Given the description of an element on the screen output the (x, y) to click on. 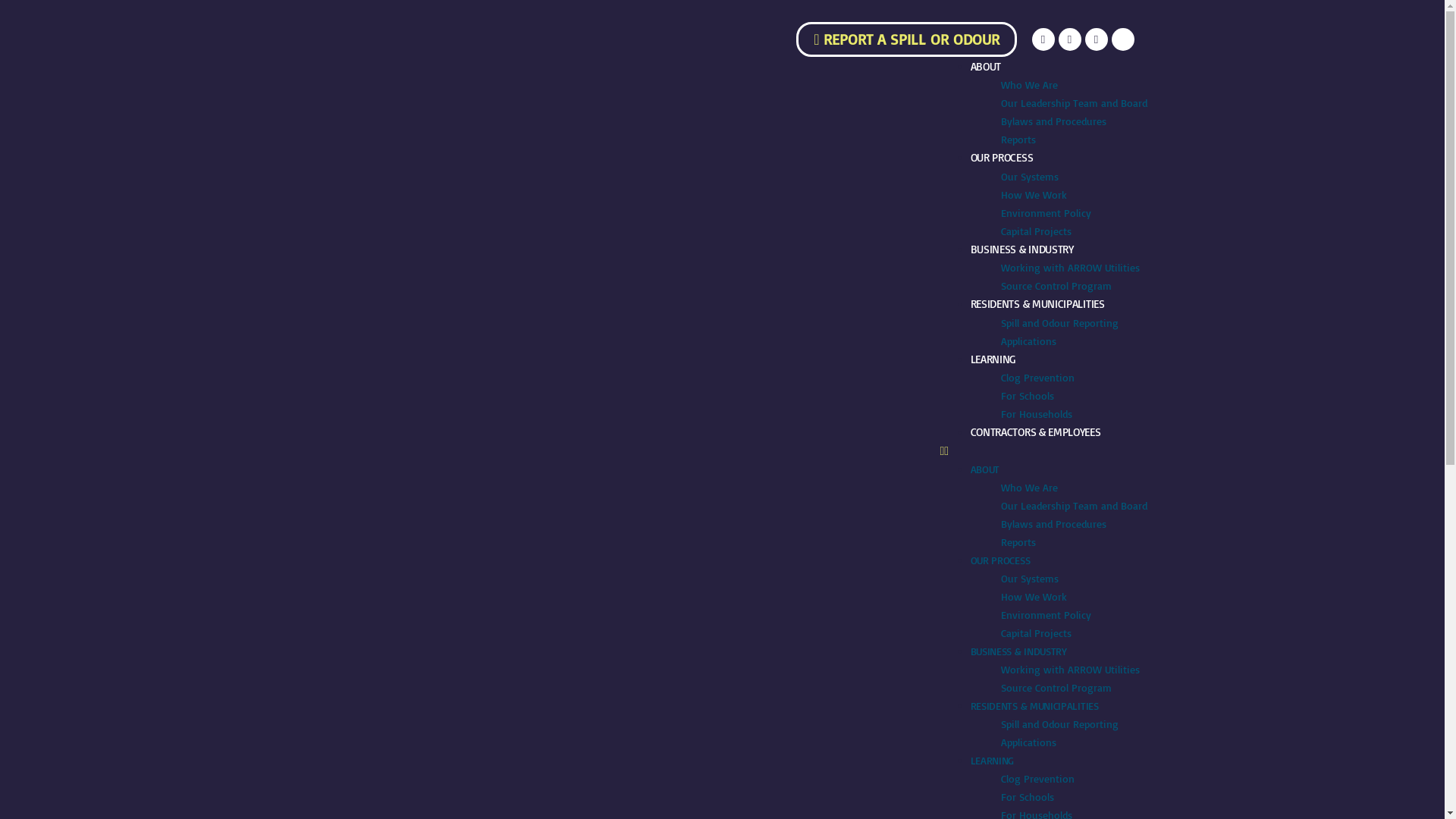
LEARNING Element type: text (993, 358)
Our Systems Element type: text (1029, 577)
Clog Prevention Element type: text (1037, 376)
ABOUT Element type: text (985, 66)
BUSINESS & INDUSTRY Element type: text (1018, 650)
Bylaws and Procedures Element type: text (1053, 523)
Source Control Program Element type: text (1056, 686)
RESIDENTS & MUNICIPALITIES Element type: text (1034, 705)
Environment Policy Element type: text (1046, 614)
Our Leadership Team and Board Element type: text (1074, 102)
LEARNING Element type: text (992, 759)
Capital Projects Element type: text (1036, 230)
How We Work Element type: text (1033, 595)
Who We Are Element type: text (1029, 486)
OUR PROCESS Element type: text (1001, 157)
Who We Are Element type: text (1029, 84)
For Households Element type: text (1036, 413)
Our Leadership Team and Board Element type: text (1074, 504)
CONTRACTORS & EMPLOYEES Element type: text (1035, 431)
How We Work Element type: text (1033, 194)
RESIDENTS & MUNICIPALITIES Element type: text (1037, 303)
REPORT A SPILL OR ODOUR Element type: text (906, 38)
Reports Element type: text (1018, 138)
BUSINESS & INDUSTRY Element type: text (1021, 248)
OUR PROCESS Element type: text (1000, 559)
For Schools Element type: text (1027, 796)
Reports Element type: text (1018, 541)
Working with ARROW Utilities Element type: text (1070, 668)
Our Systems Element type: text (1029, 175)
ABOUT Element type: text (985, 468)
Working with ARROW Utilities Element type: text (1070, 266)
Applications Element type: text (1028, 340)
Spill and Odour Reporting Element type: text (1059, 723)
Applications Element type: text (1028, 741)
For Schools Element type: text (1027, 395)
Spill and Odour Reporting Element type: text (1059, 322)
Bylaws and Procedures Element type: text (1053, 120)
Capital Projects Element type: text (1036, 632)
Environment Policy Element type: text (1046, 212)
Clog Prevention Element type: text (1037, 777)
Source Control Program Element type: text (1056, 285)
